Given the description of an element on the screen output the (x, y) to click on. 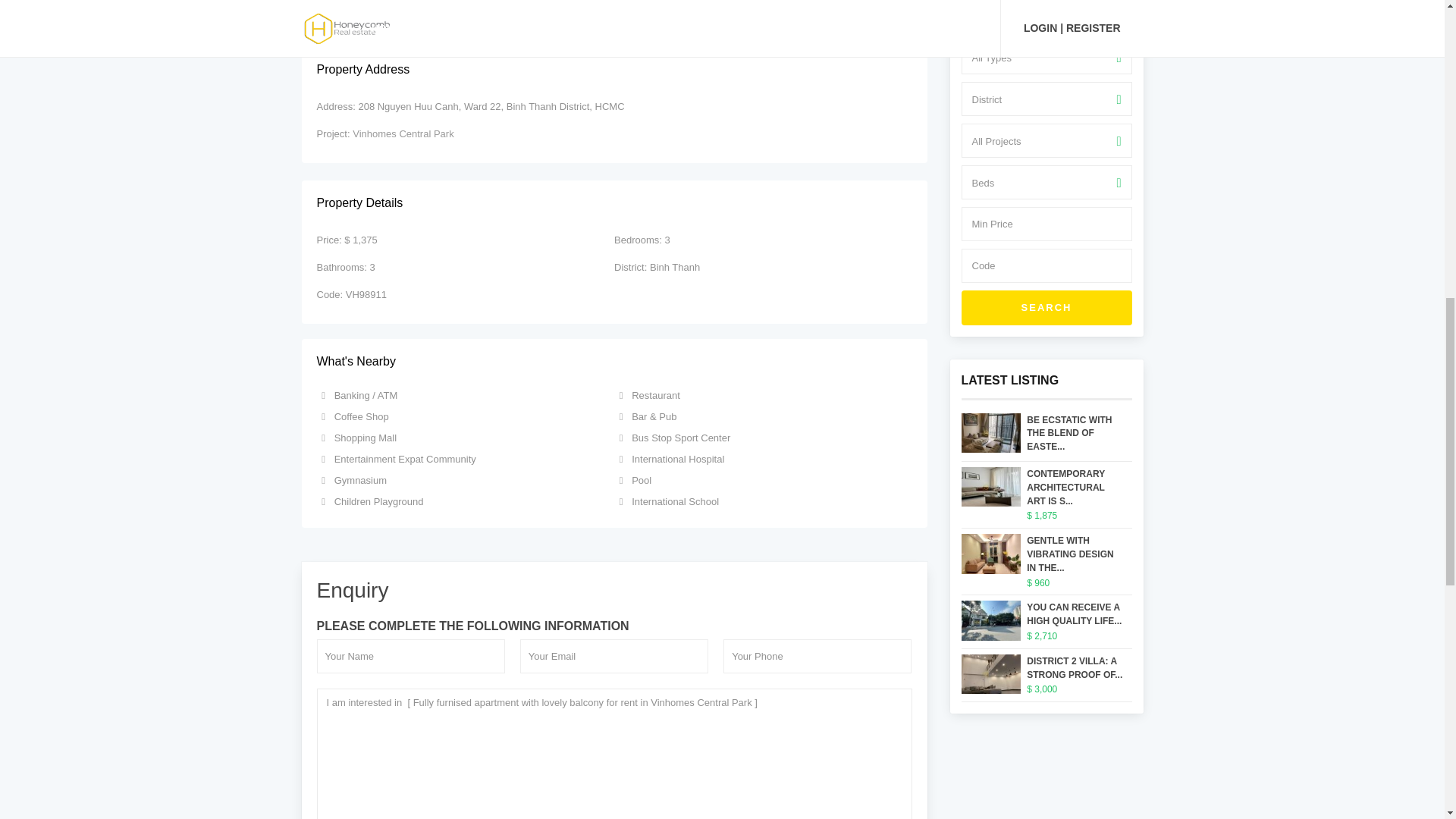
SEARCH (1046, 307)
What'S Nearby (614, 361)
Property Details (614, 203)
Vinhomes Central Park (402, 133)
Property Address (614, 69)
